Given the description of an element on the screen output the (x, y) to click on. 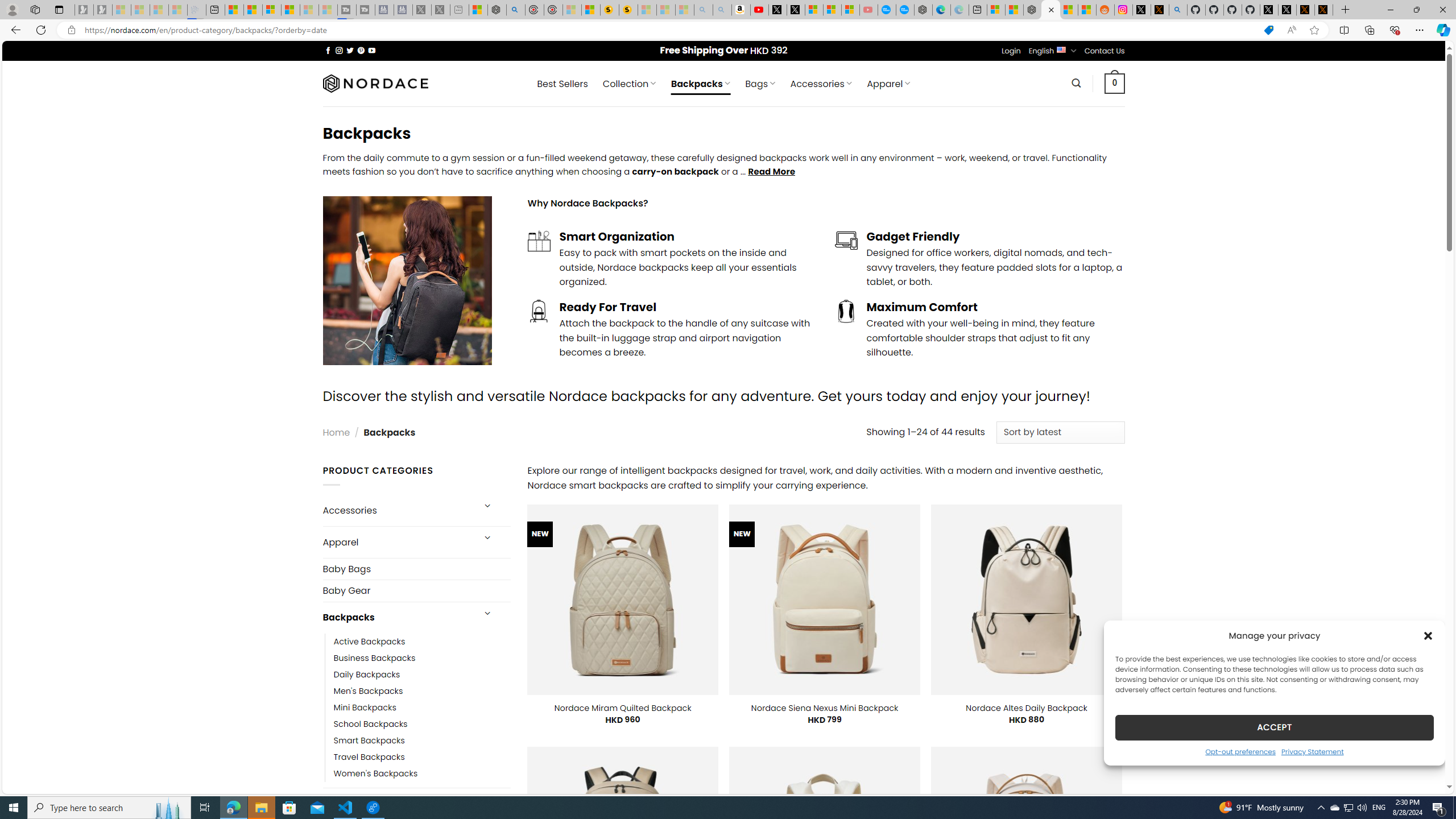
Nordace - Nordace has arrived Hong Kong (923, 9)
Nordace - Best Sellers (1032, 9)
Baby Bags (416, 568)
Opinion: Op-Ed and Commentary - USA TODAY (887, 9)
Business Backpacks (374, 657)
Bags (397, 803)
Active Backpacks (369, 641)
Follow on Facebook (327, 49)
